Given the description of an element on the screen output the (x, y) to click on. 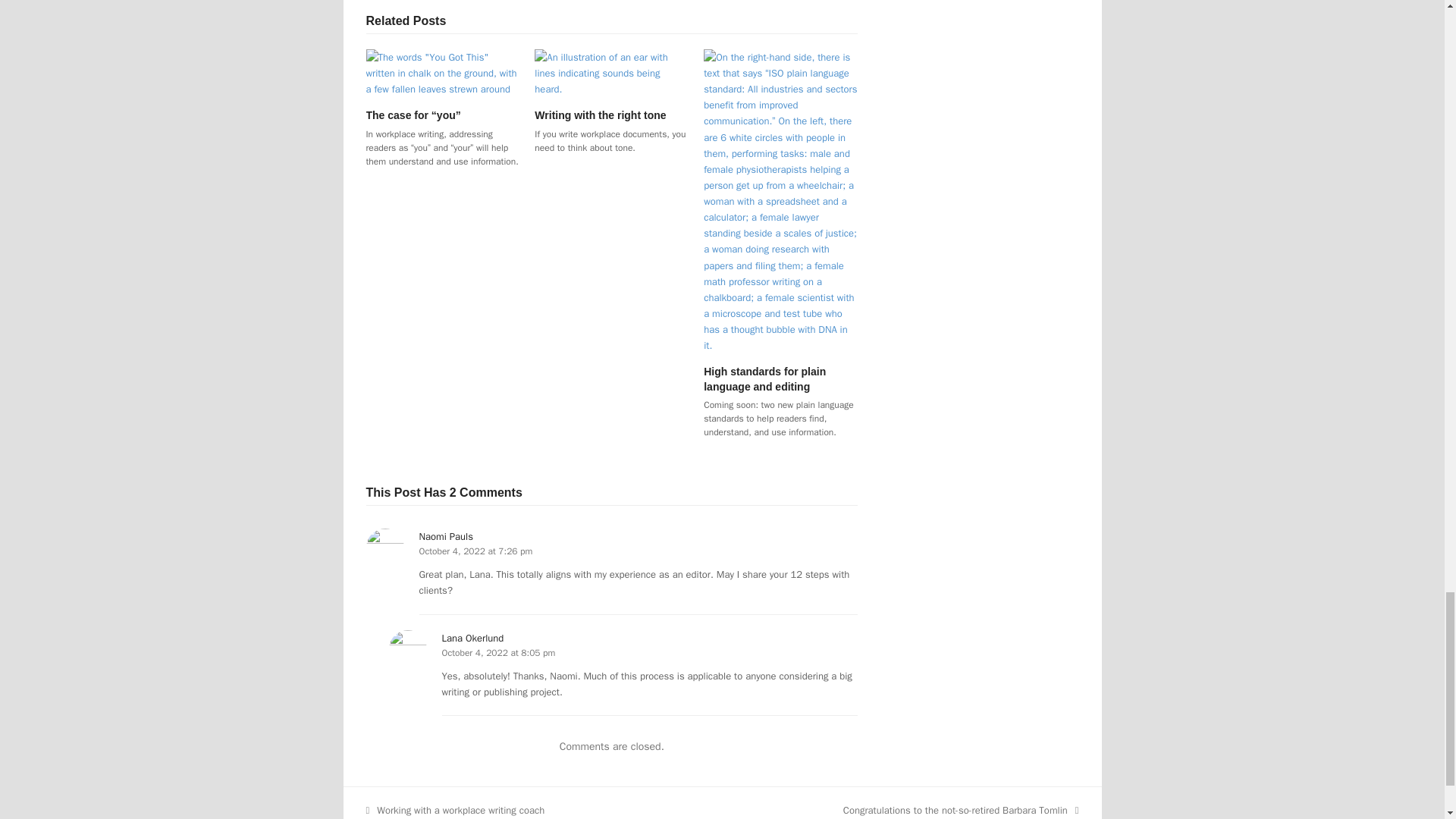
High standards for plain language and editing (780, 200)
October 4, 2022 at 7:26 pm (475, 551)
Writing with the right tone (611, 72)
Naomi Pauls (445, 535)
Writing with the right tone (599, 114)
High standards for plain language and editing (764, 378)
Lana Okerlund (472, 637)
